Given the description of an element on the screen output the (x, y) to click on. 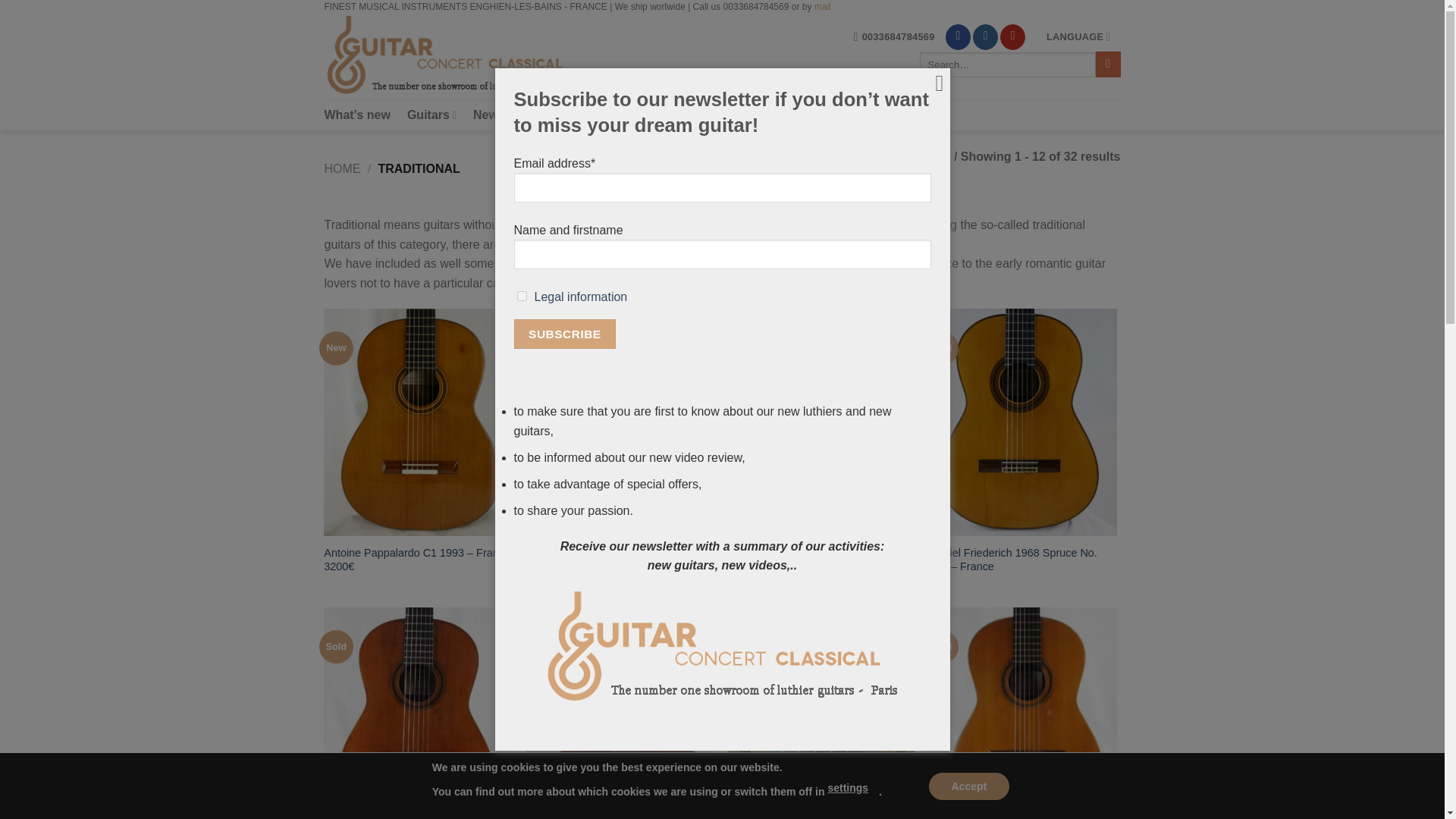
Video (540, 114)
Follow on YouTube (1012, 36)
on (521, 296)
mail (822, 7)
0033684784569 (893, 36)
LANGUAGE (1078, 36)
My wishlist (610, 114)
0033684784569 (893, 36)
SUBSCRIBE (564, 333)
Follow on Instagram (984, 36)
News (489, 114)
Follow on Facebook (957, 36)
Guitars (432, 114)
Search (1108, 63)
